Given the description of an element on the screen output the (x, y) to click on. 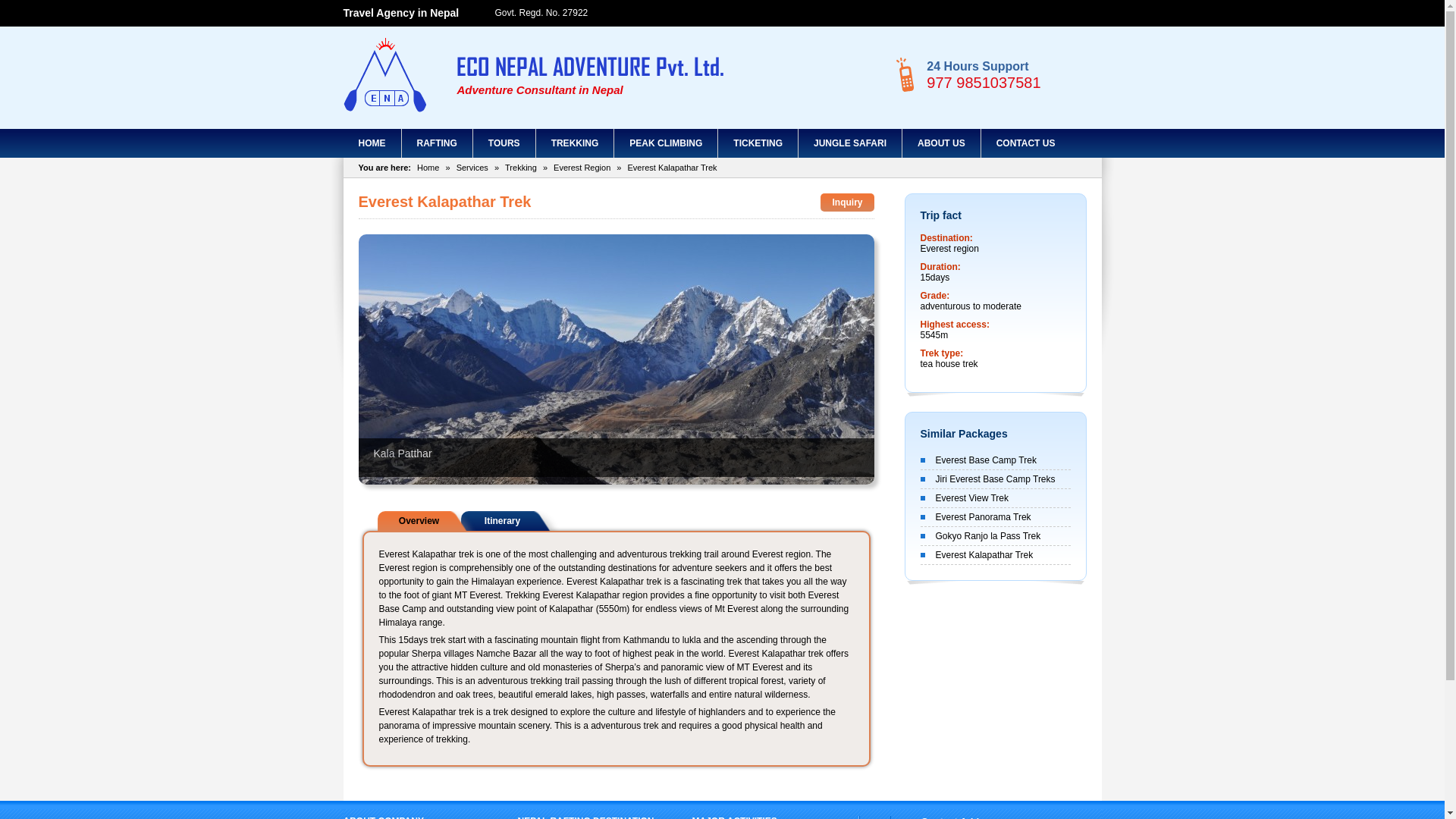
TREKKING (574, 143)
TICKETING (757, 143)
JUNGLE SAFARI (849, 143)
Home (371, 143)
Tours (504, 143)
Rss Feeds (1069, 13)
CONTACT US (1025, 143)
Services (472, 166)
ABOUT US (940, 143)
Rafting (436, 143)
Home (427, 166)
Twitter (1047, 13)
Facebook (1026, 13)
Rss Feeds (1069, 13)
Facebook (1026, 13)
